Given the description of an element on the screen output the (x, y) to click on. 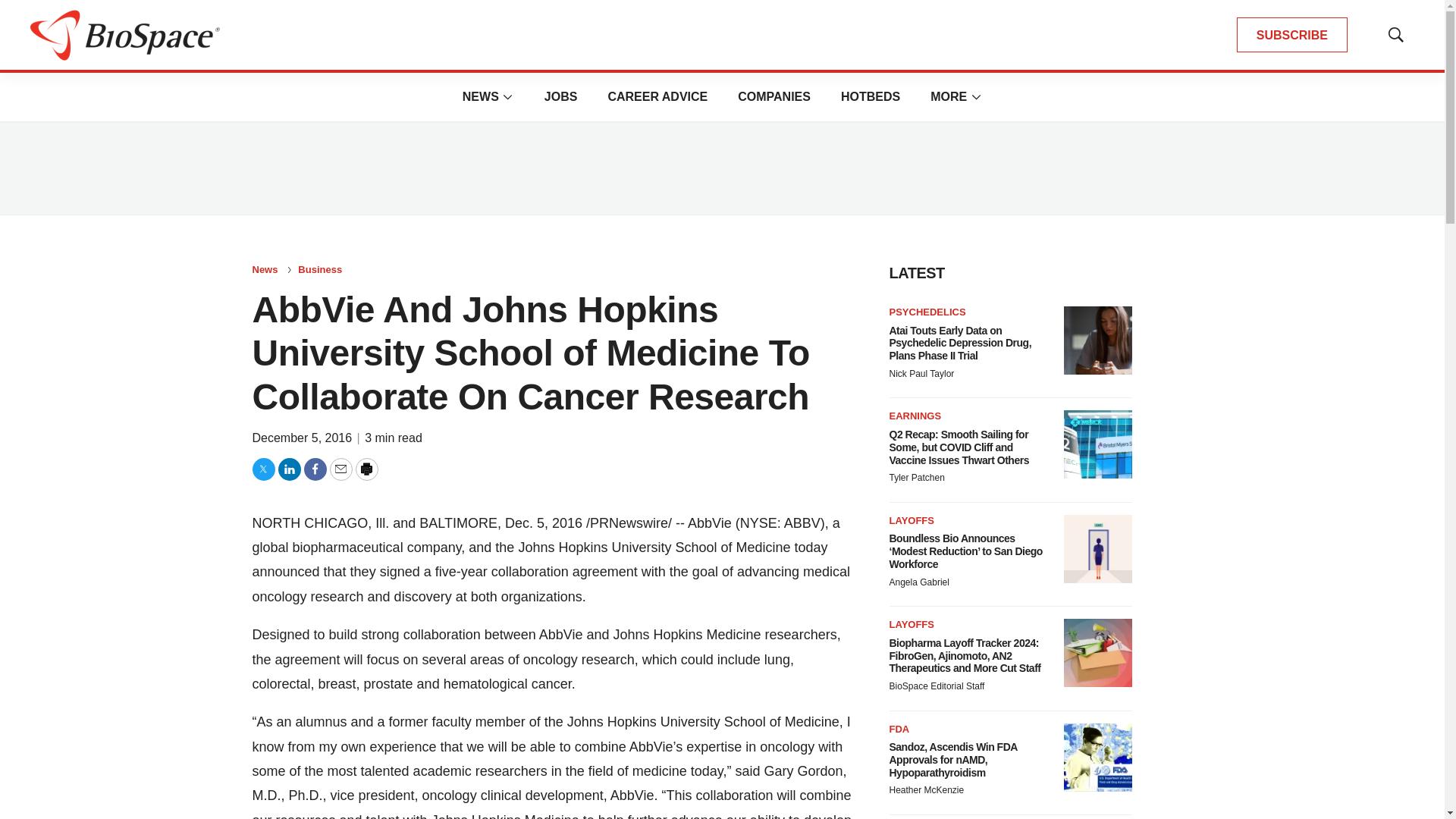
Show Search (1395, 34)
SUBSCRIBE (1292, 34)
3rd party ad content (721, 168)
NEWS (481, 96)
